Given the description of an element on the screen output the (x, y) to click on. 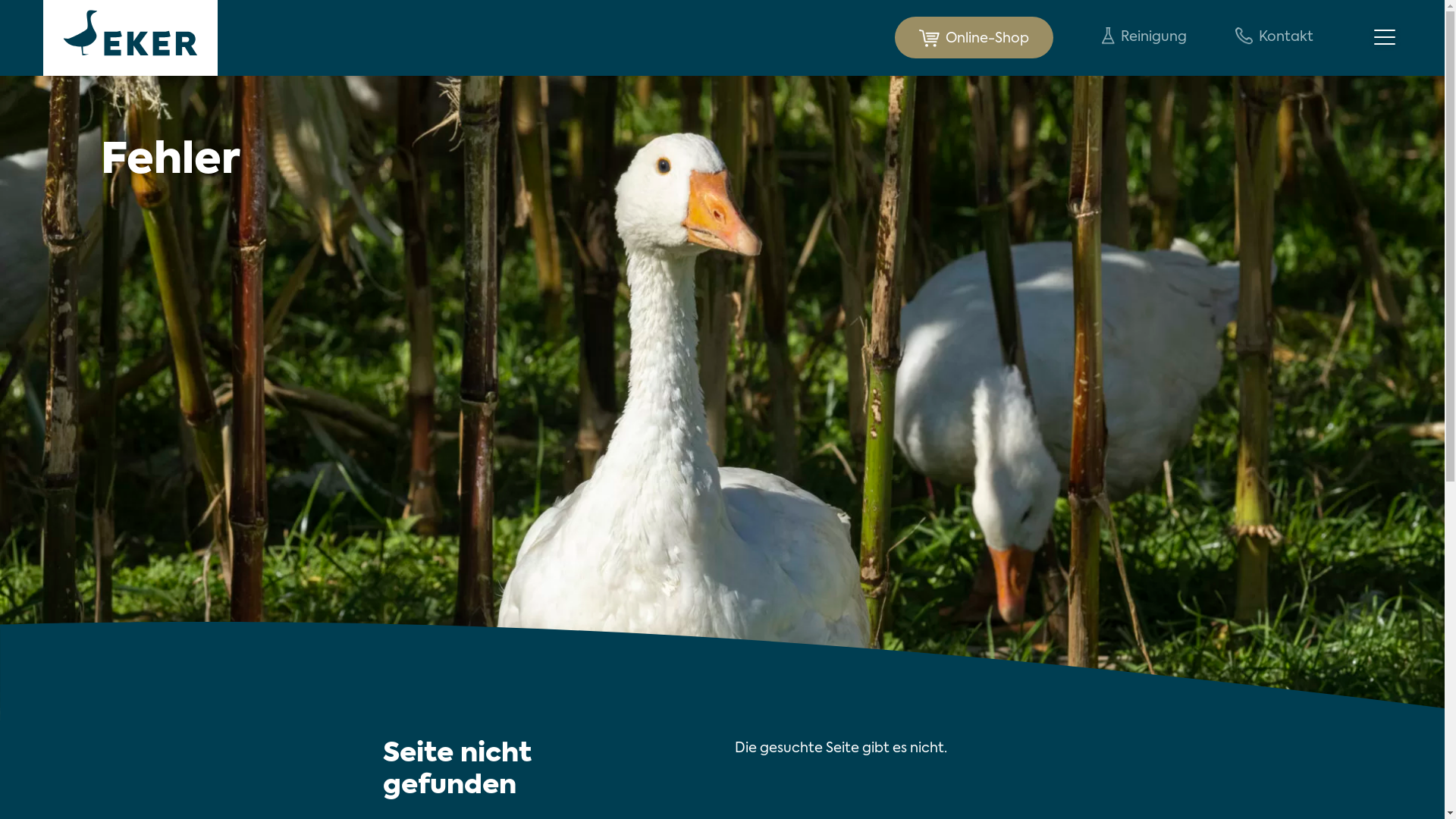
Kontakt Element type: text (1274, 37)
Reinigung Element type: text (1144, 37)
Online-Shop Element type: text (973, 37)
